Given the description of an element on the screen output the (x, y) to click on. 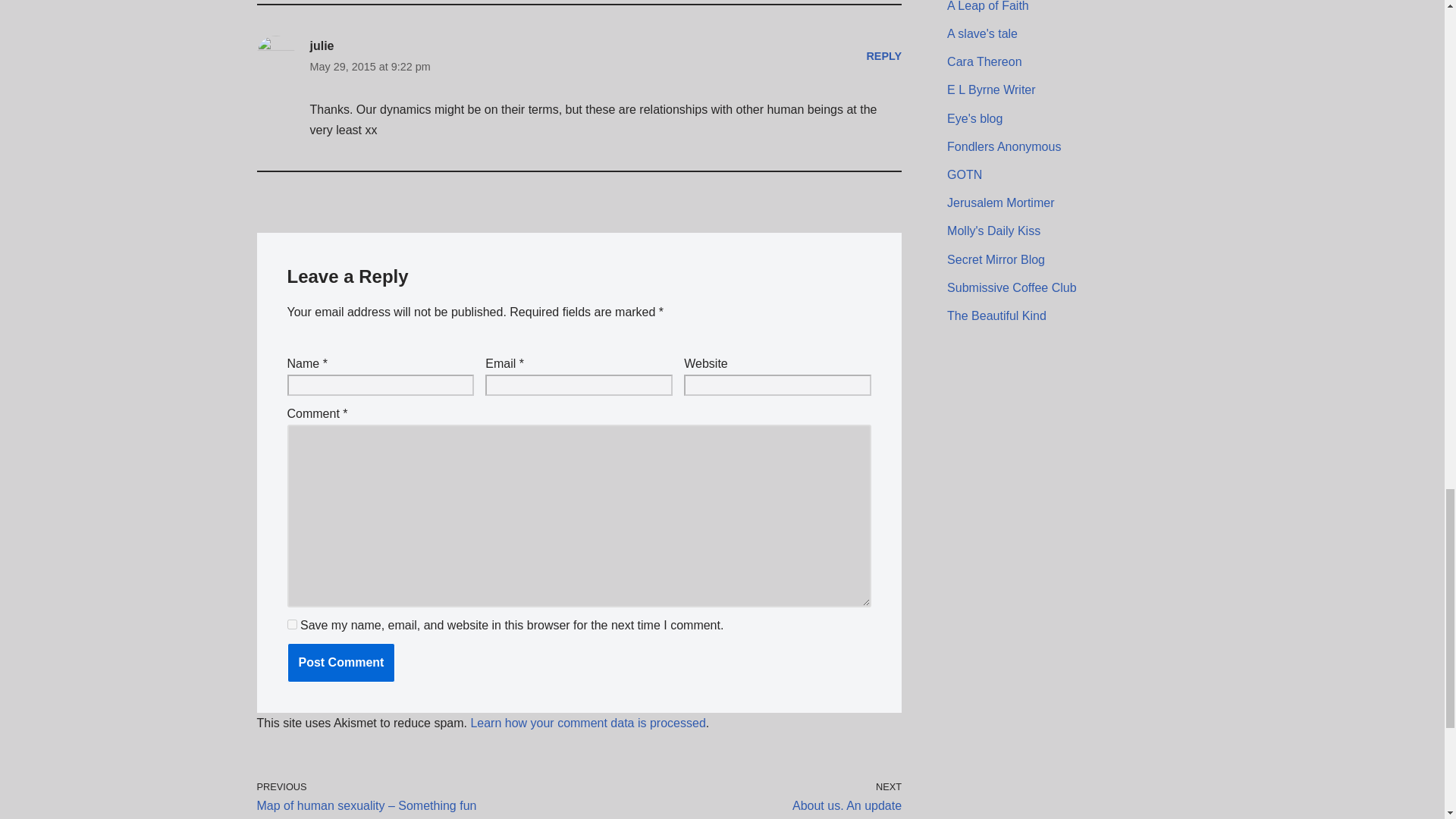
Prompts and posts about submission, by submissives (1011, 287)
yes (291, 624)
Kendra Holliday (996, 315)
Fondles (1004, 146)
Molly (994, 230)
Girl on the Net (964, 174)
Post Comment (340, 662)
Between the Lines (1000, 202)
